Given the description of an element on the screen output the (x, y) to click on. 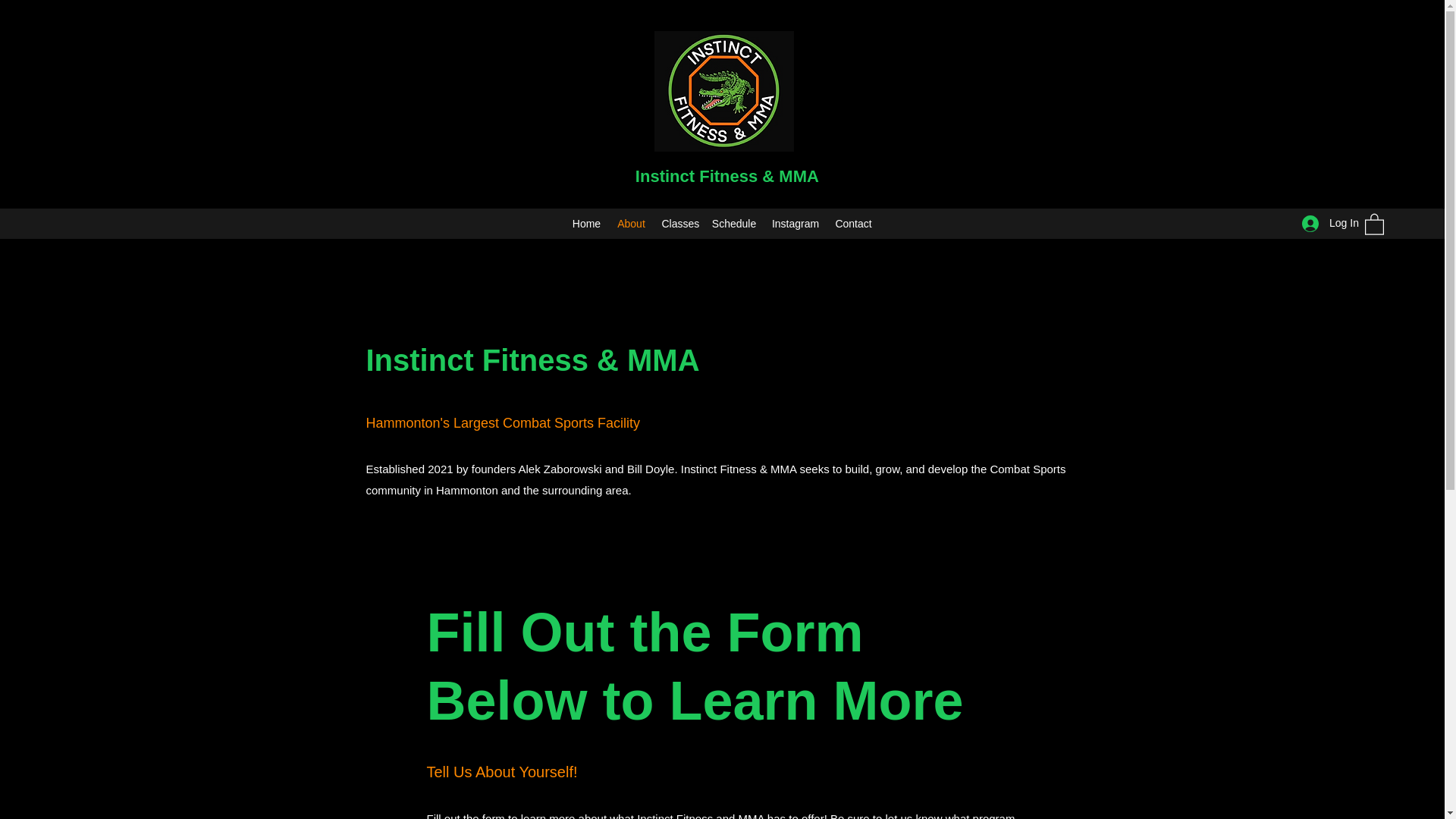
Classes (678, 223)
Schedule (732, 223)
Home (586, 223)
Instagram (795, 223)
Contact (853, 223)
About (630, 223)
Log In (1325, 223)
